Given the description of an element on the screen output the (x, y) to click on. 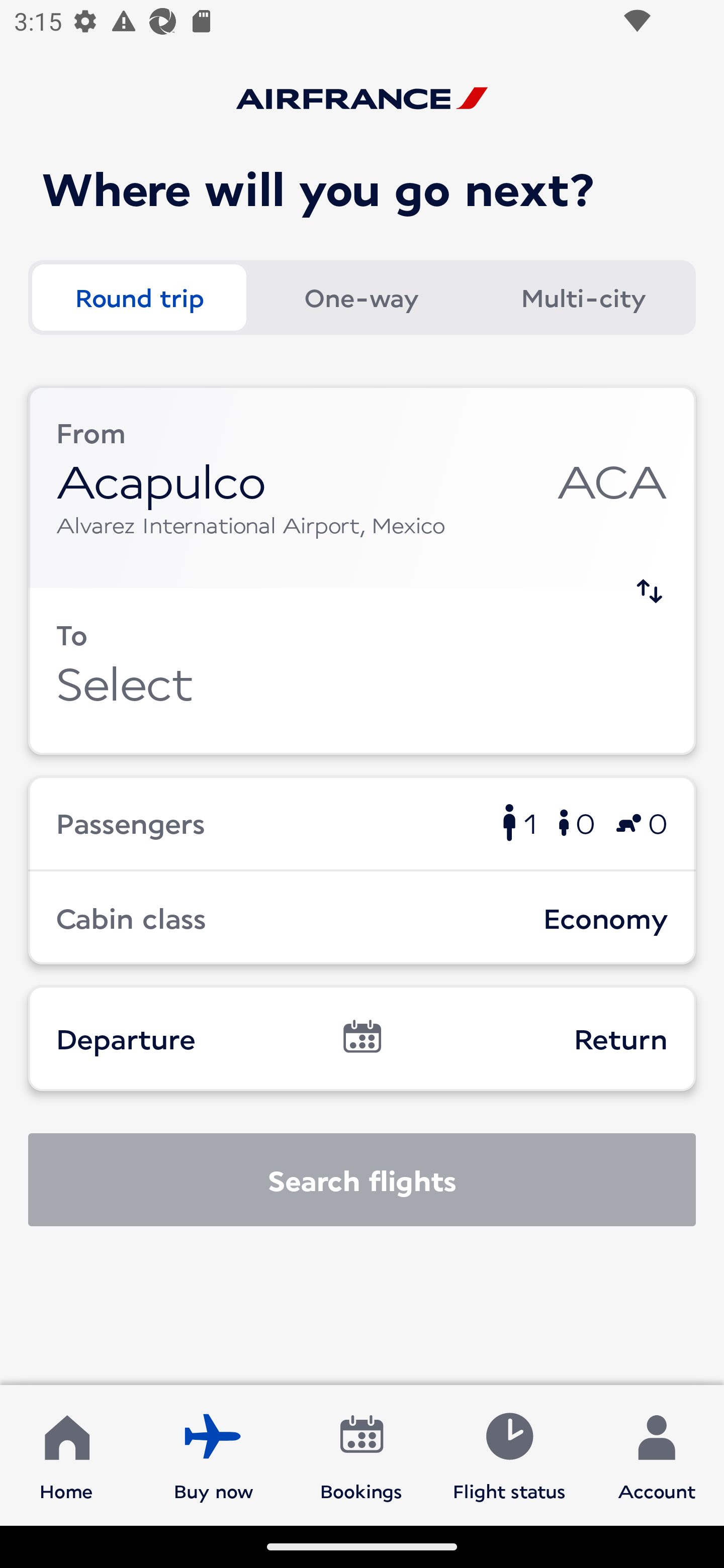
Round trip (139, 297)
One-way (361, 297)
Multi-city (583, 297)
To Select (361, 671)
Passengers 1 0 0 (361, 822)
Cabin class Economy (361, 917)
Departure Return (361, 1038)
Search flights (361, 1179)
Home (66, 1454)
Bookings (361, 1454)
Flight status (509, 1454)
Account (657, 1454)
